Given the description of an element on the screen output the (x, y) to click on. 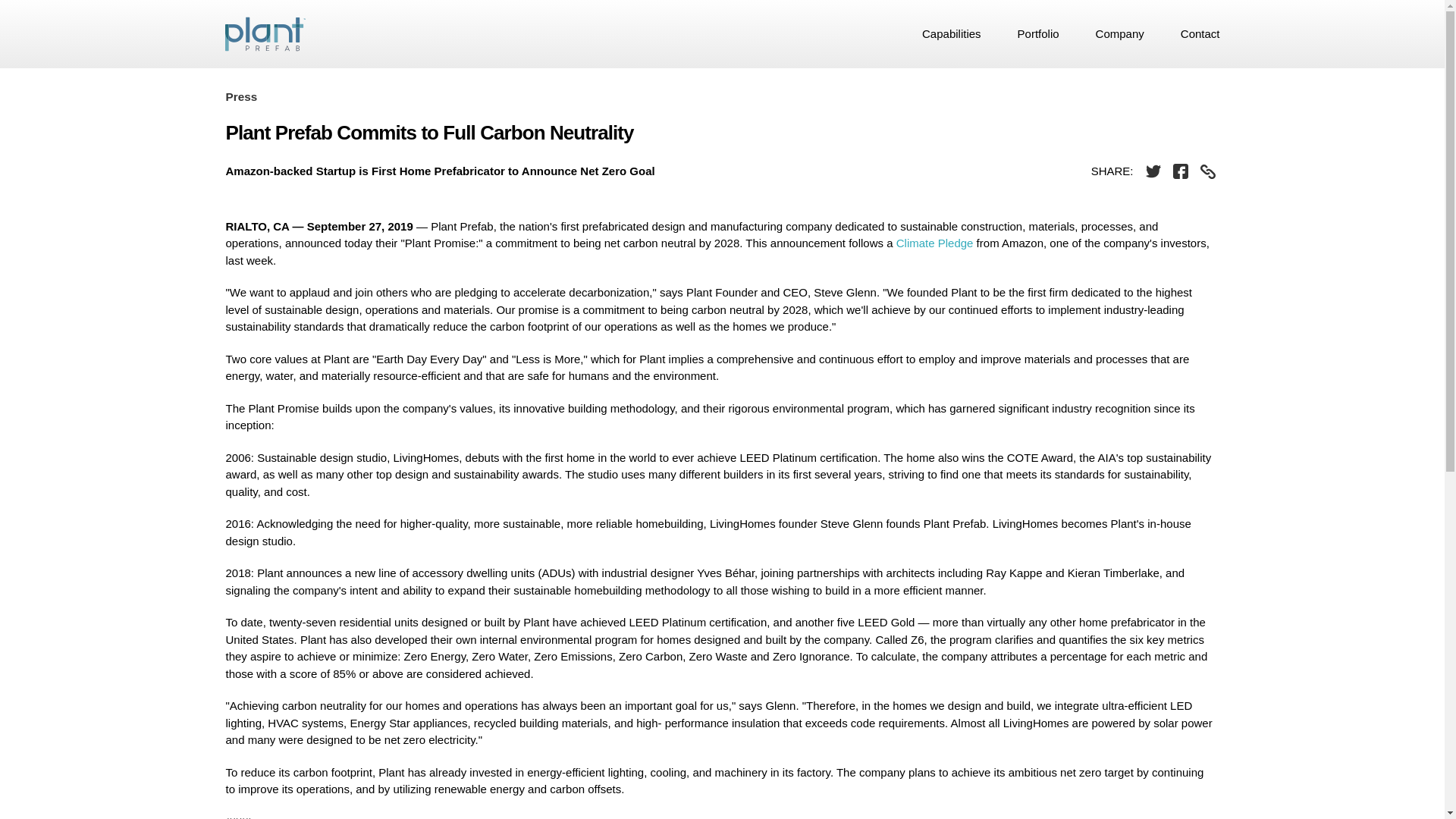
Contact (1195, 33)
Climate Pledge (935, 242)
Portfolio (1038, 33)
Capabilities (951, 33)
